Given the description of an element on the screen output the (x, y) to click on. 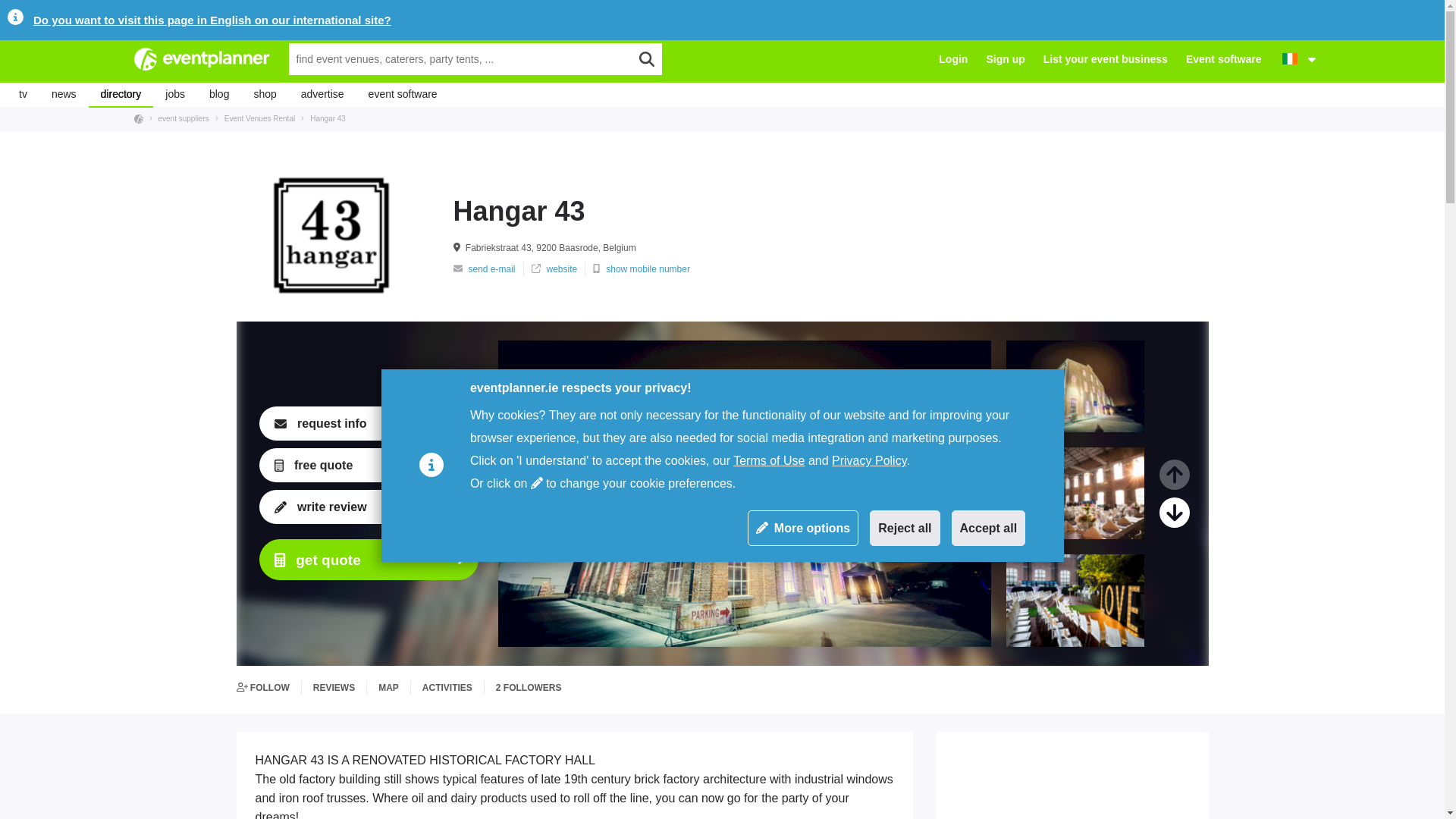
tv (23, 94)
news (63, 94)
Sign up (1005, 59)
Login (953, 59)
Event software (1224, 59)
List your event business (1105, 59)
Hangar 43 (324, 118)
jobs (174, 94)
blog (218, 94)
advertise (322, 94)
shop (264, 94)
directory (121, 94)
